Given the description of an element on the screen output the (x, y) to click on. 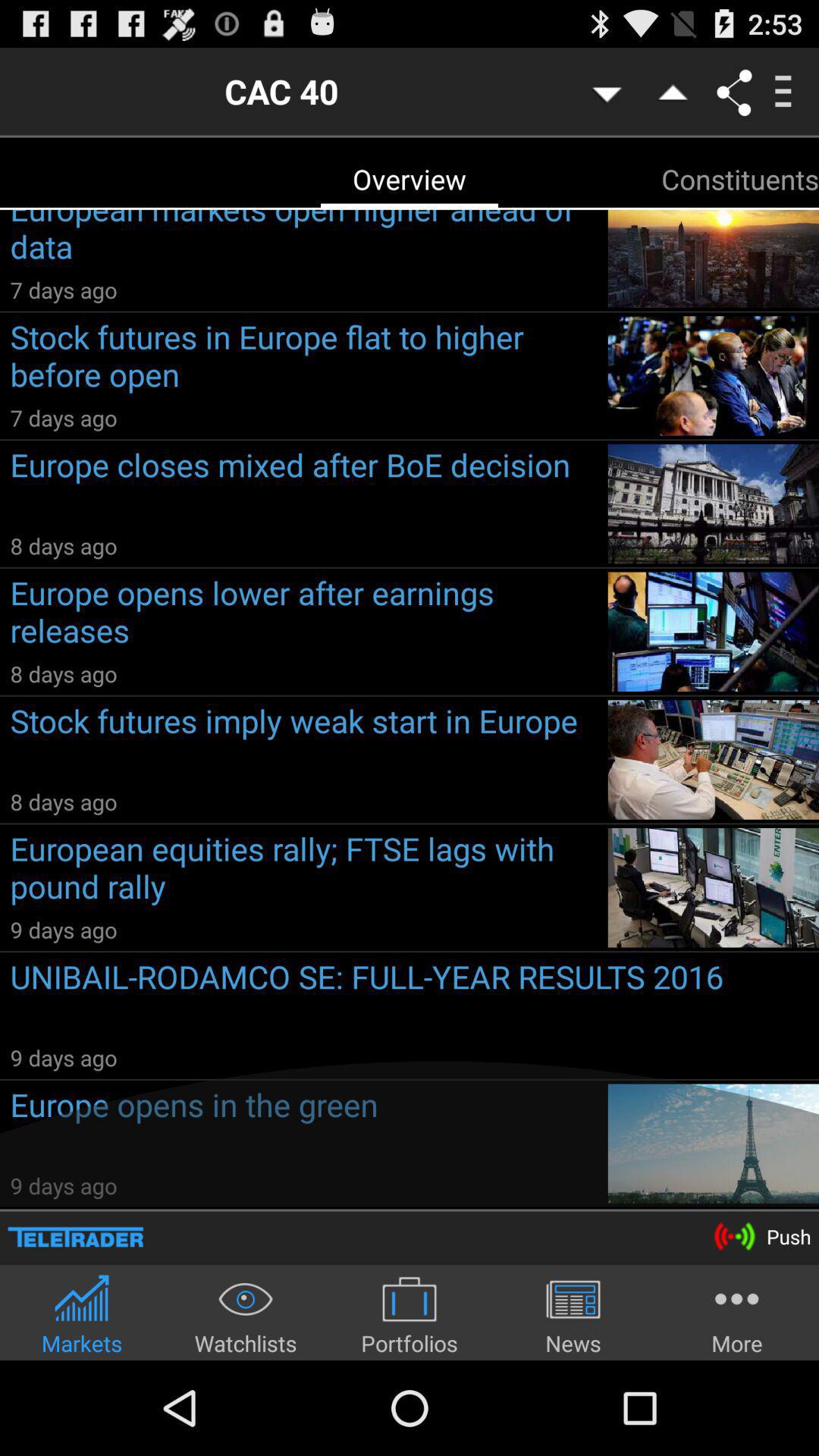
open the app above the 8 days ago item (303, 486)
